Given the description of an element on the screen output the (x, y) to click on. 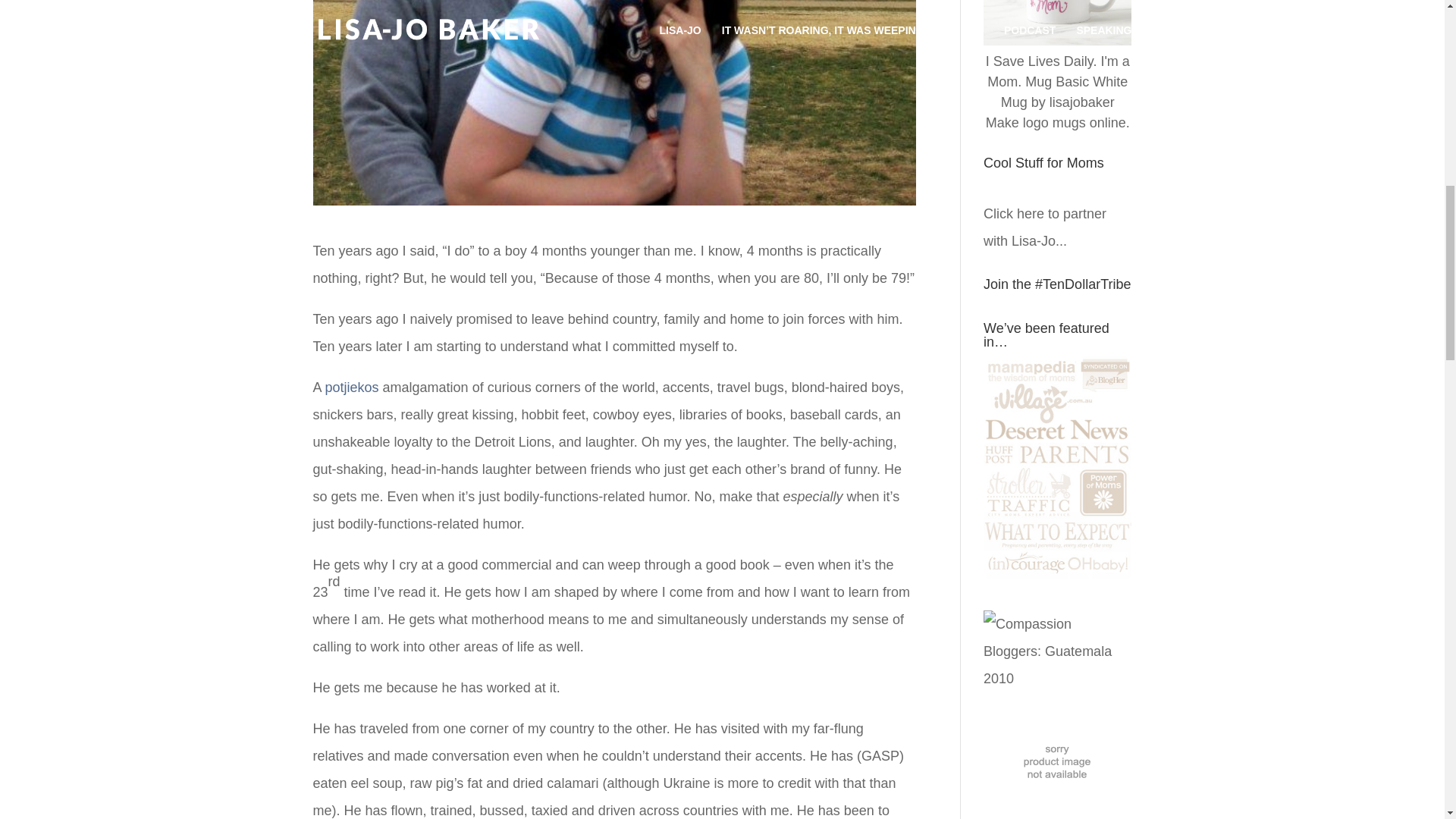
lisajobaker (1082, 102)
potjiekos (351, 387)
Click here to partner with Lisa-Jo... (1045, 227)
logo mugs (1054, 122)
Compassion Bloggers: Guatemala 2010 (1057, 678)
I Save Lives Daily. I'm a Mom. Mug Basic White Mug (1057, 81)
